Given the description of an element on the screen output the (x, y) to click on. 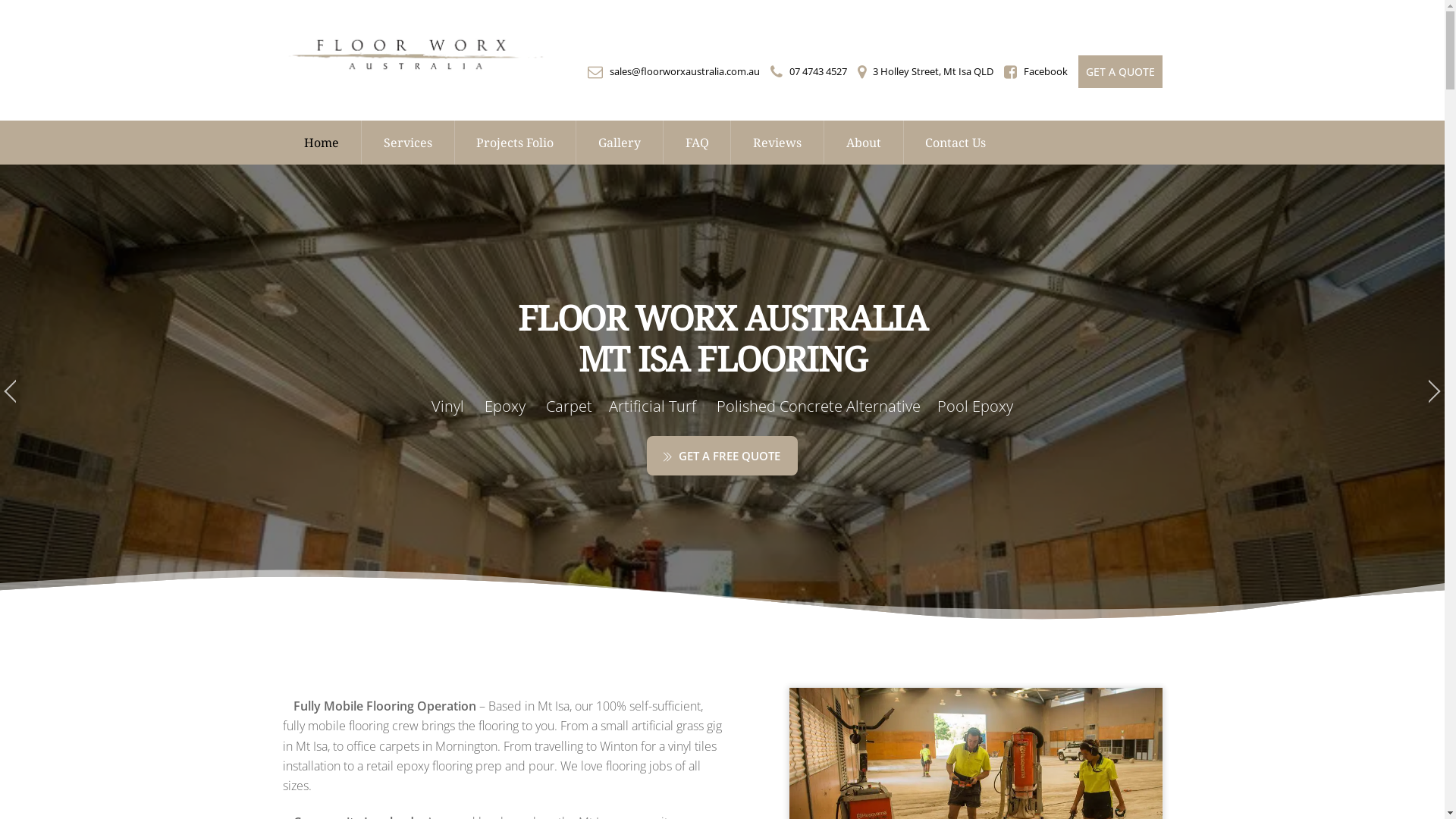
GET A FREE QUOTE Element type: text (721, 455)
sales@floorworxaustralia.com.au Element type: text (684, 71)
Projects Folio Element type: text (515, 142)
Contact Us Element type: text (955, 142)
FAQ Element type: text (696, 142)
GET A QUOTE Element type: text (1119, 71)
Home Element type: text (321, 142)
Facebook Element type: text (1045, 71)
Floor Worx Australia logo.fw Element type: hover (414, 53)
Reviews Element type: text (776, 142)
07 4743 4527 Element type: text (817, 71)
Gallery Element type: text (618, 142)
3 Holley Street, Mt Isa QLD Element type: text (932, 71)
Floor Worx Australia Element type: hover (414, 73)
About Element type: text (863, 142)
Services Element type: text (407, 142)
